Given the description of an element on the screen output the (x, y) to click on. 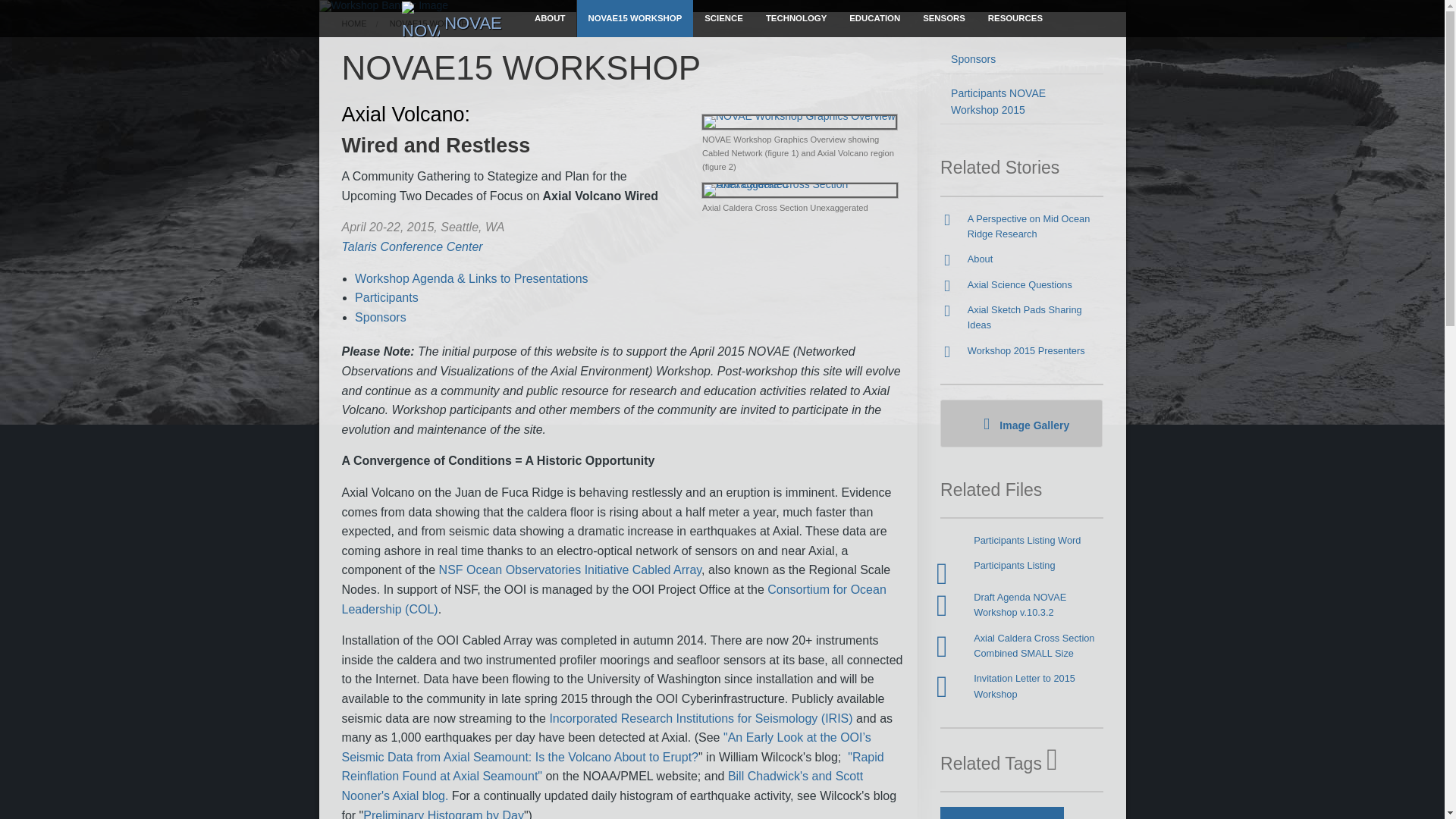
SCIENCE (723, 18)
Preliminary Histogram by Day (443, 814)
Participants (387, 297)
"Rapid Reinflation Found at Axial Seamount" (611, 766)
SENSORS (943, 18)
TECHNOLOGY (796, 18)
NOVAE15 WORKSHOP (634, 18)
"An Early Look at (769, 737)
Bill Chadwick's and Scott Nooner's Axial blog. (601, 785)
Workshop Banner Image (383, 6)
